Given the description of an element on the screen output the (x, y) to click on. 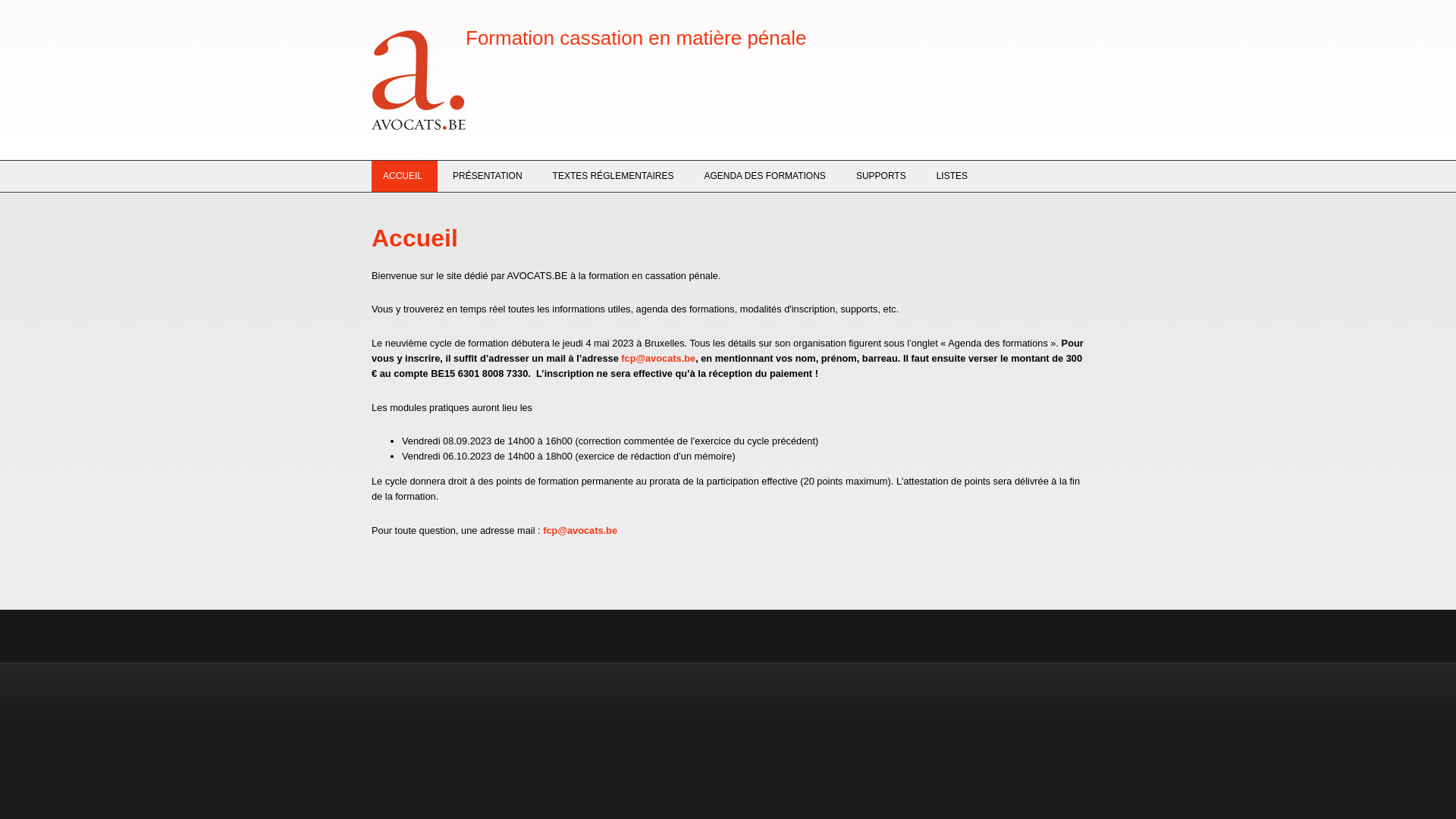
Aller au contenu principal Element type: text (54, 0)
ACCUEIL Element type: text (404, 175)
LISTES Element type: text (949, 175)
fcp@avocats.be Element type: text (658, 358)
fcp@avocats.be Element type: text (579, 530)
AGENDA DES FORMATIONS Element type: text (763, 175)
SUPPORTS Element type: text (881, 175)
